Given the description of an element on the screen output the (x, y) to click on. 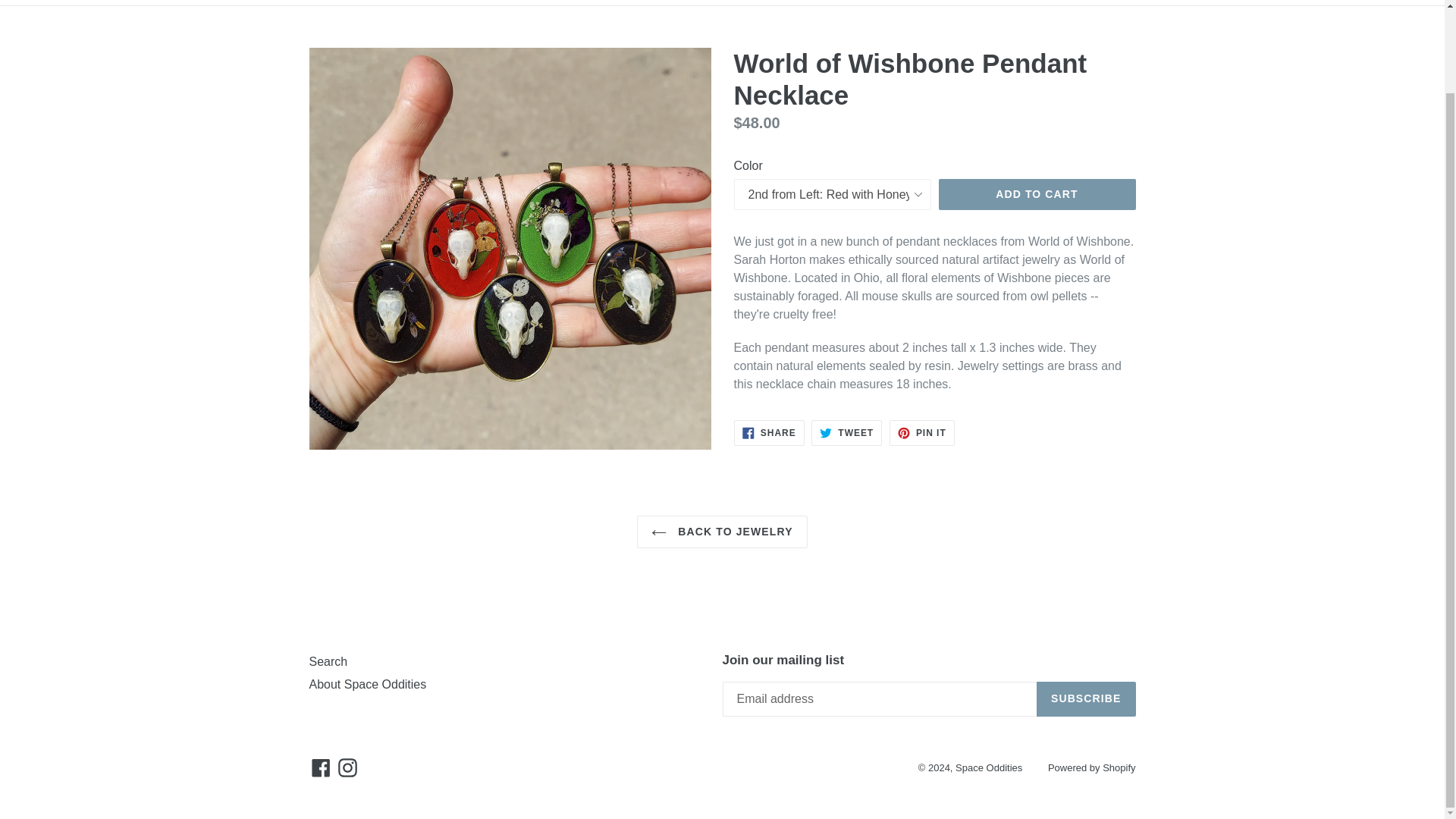
Share on Facebook (769, 432)
Space Oddities  on Instagram (347, 767)
Space Oddities  on Facebook (320, 767)
Pin on Pinterest (922, 432)
Tweet on Twitter (846, 432)
